Given the description of an element on the screen output the (x, y) to click on. 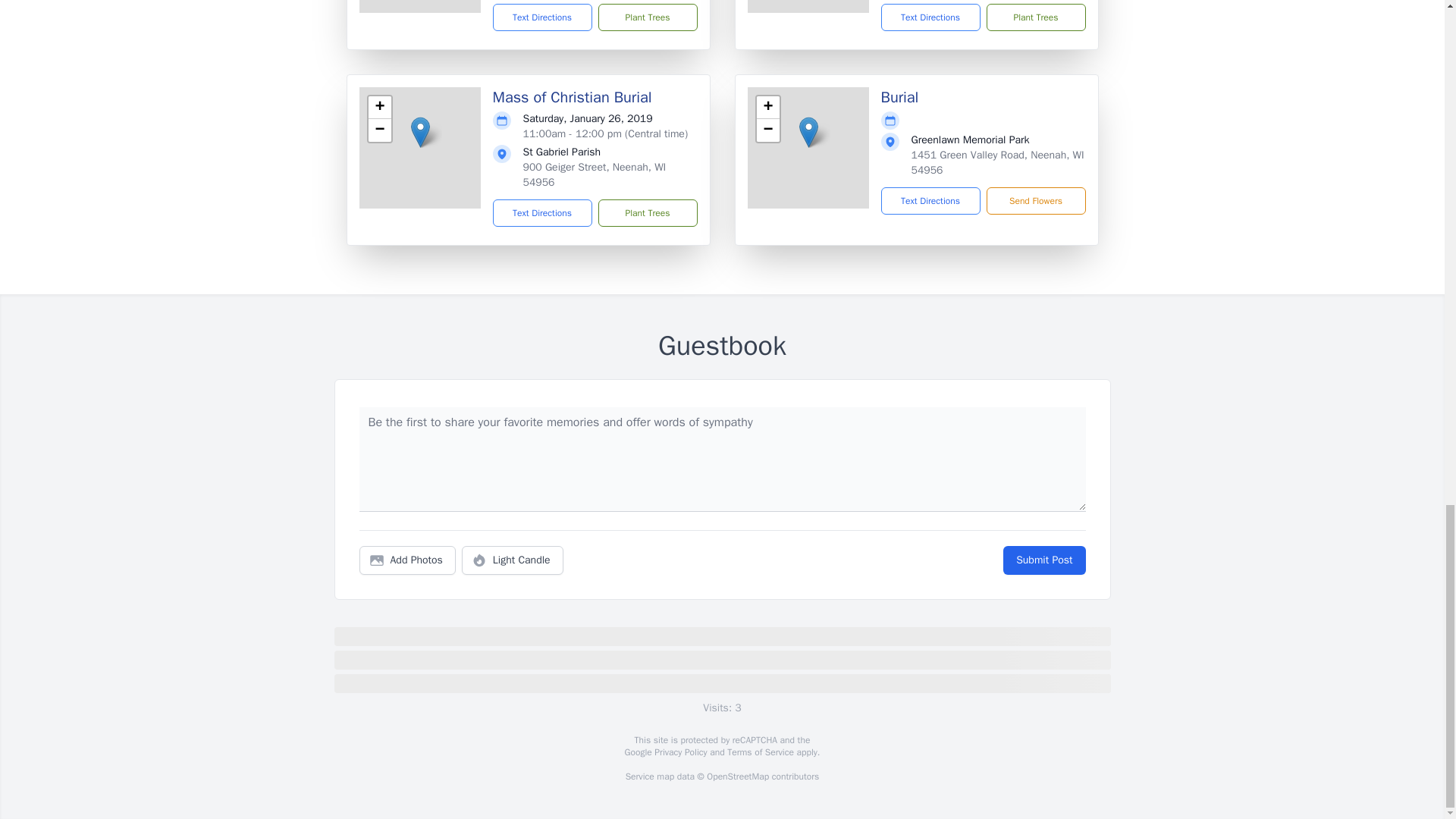
Text Directions (542, 17)
Text Directions (929, 17)
Zoom out (379, 129)
Zoom in (767, 107)
Plant Trees (646, 17)
900 Geiger Street, Neenah, WI 54956 (594, 174)
Text Directions (542, 212)
Plant Trees (646, 212)
Zoom in (379, 107)
Zoom out (767, 129)
Plant Trees (1034, 17)
